Given the description of an element on the screen output the (x, y) to click on. 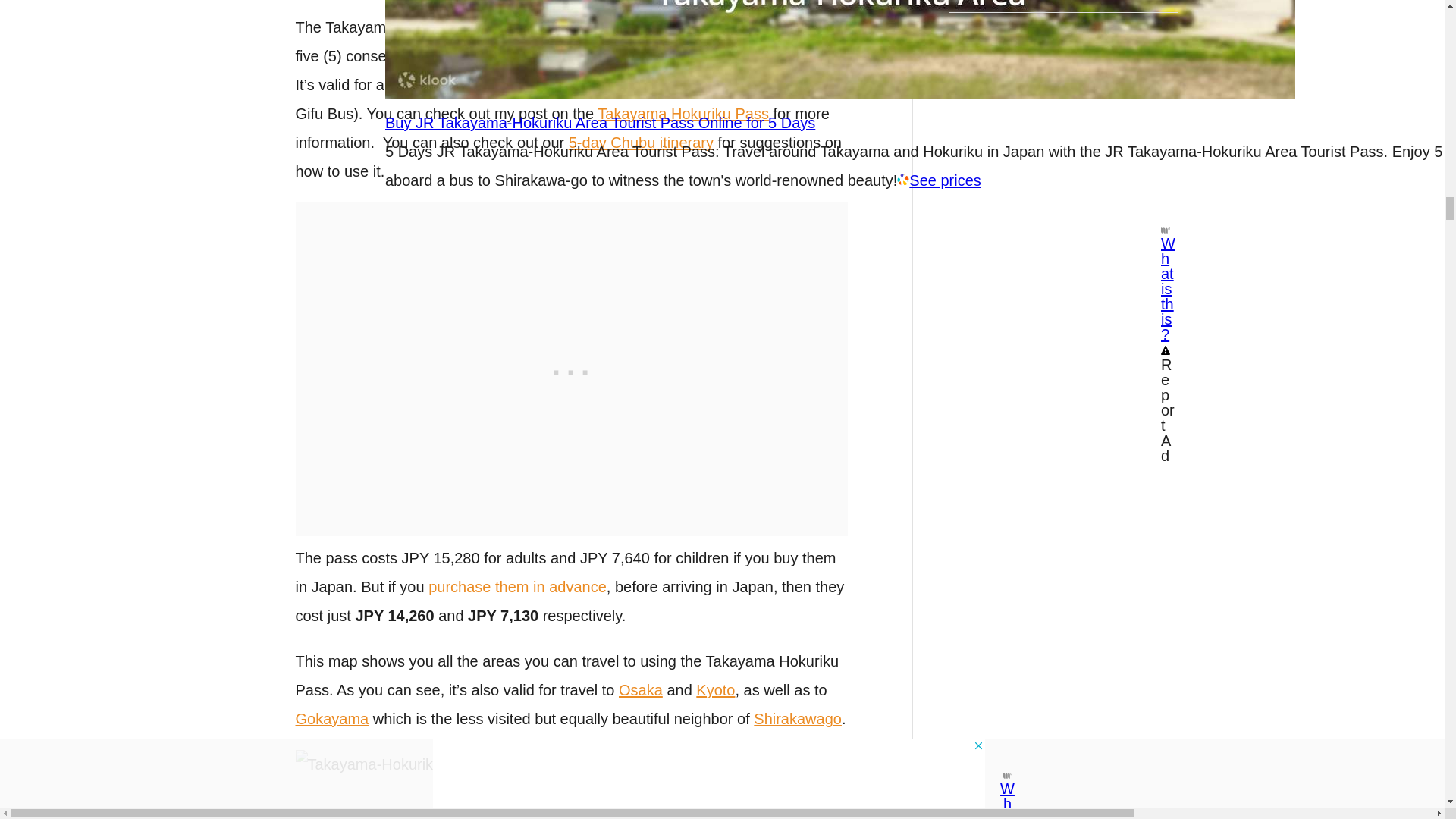
The Shirakawa-go Winter Travel Guide (571, 784)
